Given the description of an element on the screen output the (x, y) to click on. 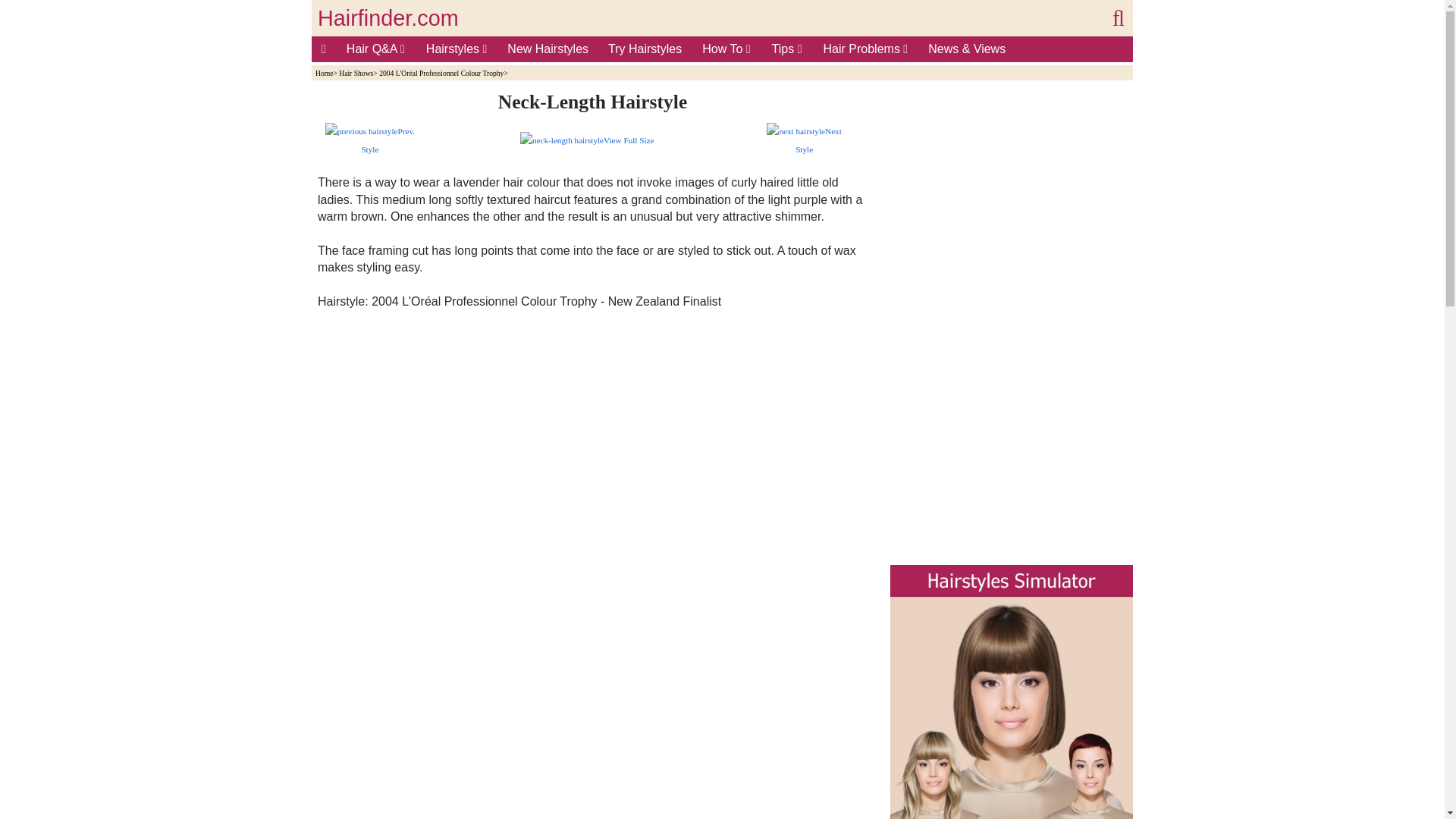
Hairfinder.com (387, 18)
Hairstyles (455, 49)
